Given the description of an element on the screen output the (x, y) to click on. 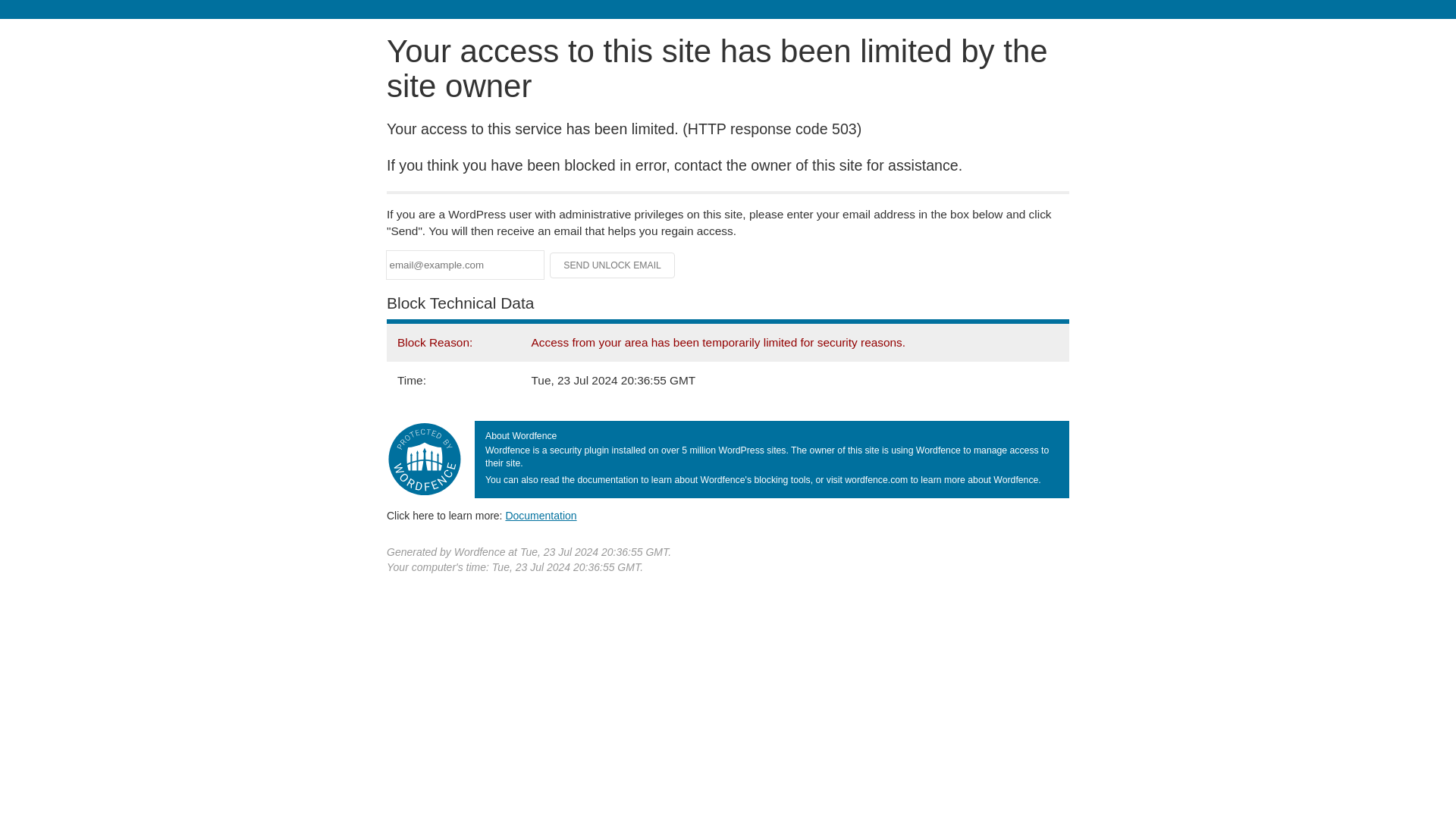
Send Unlock Email (612, 265)
Documentation (540, 515)
Send Unlock Email (612, 265)
